Given the description of an element on the screen output the (x, y) to click on. 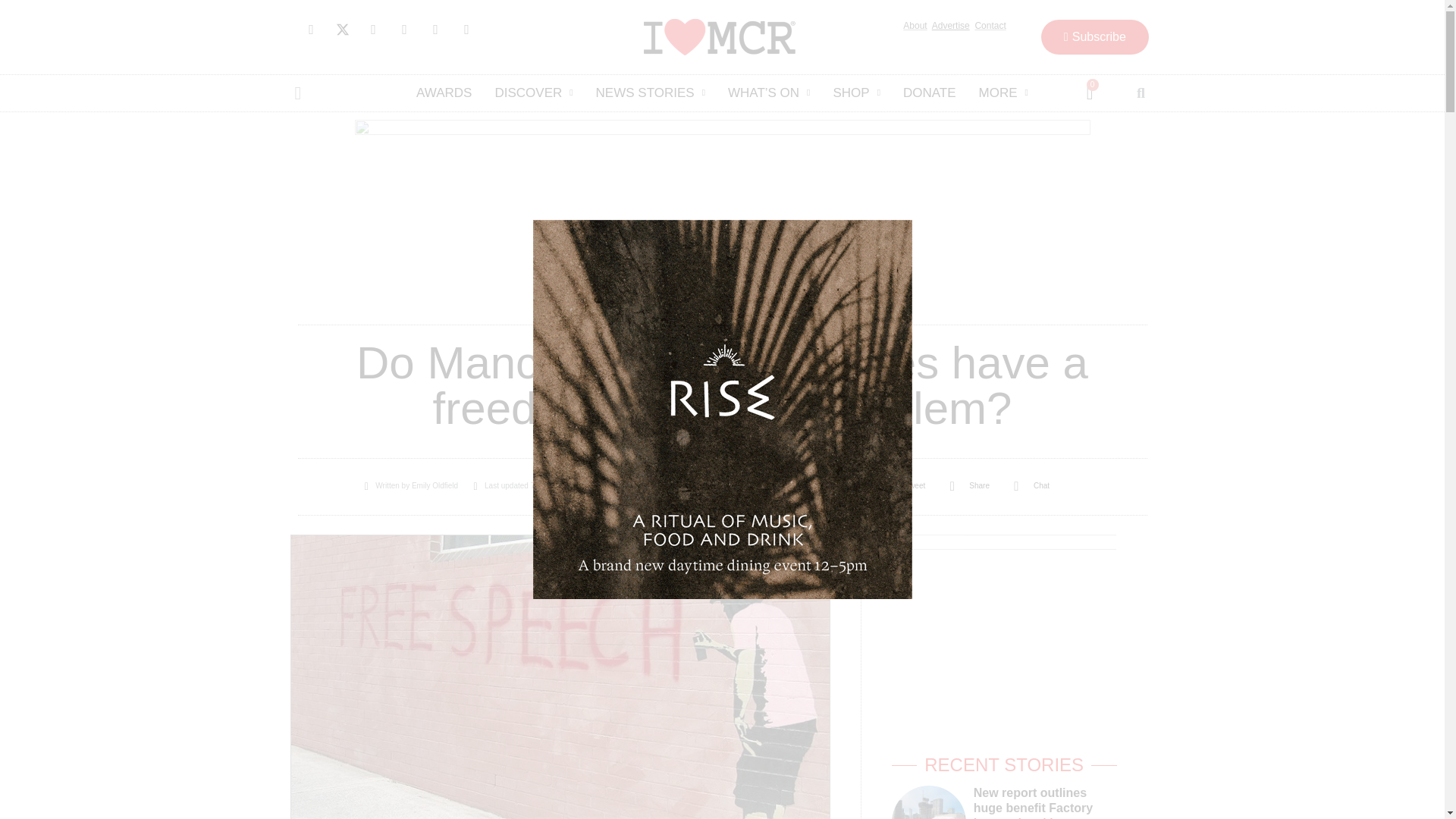
Subscribe (1094, 36)
DISCOVER (533, 93)
AWARDS (443, 93)
About (914, 25)
Advertise (950, 25)
ilovemcr-website-logo 544 (718, 36)
Contact (990, 25)
